Given the description of an element on the screen output the (x, y) to click on. 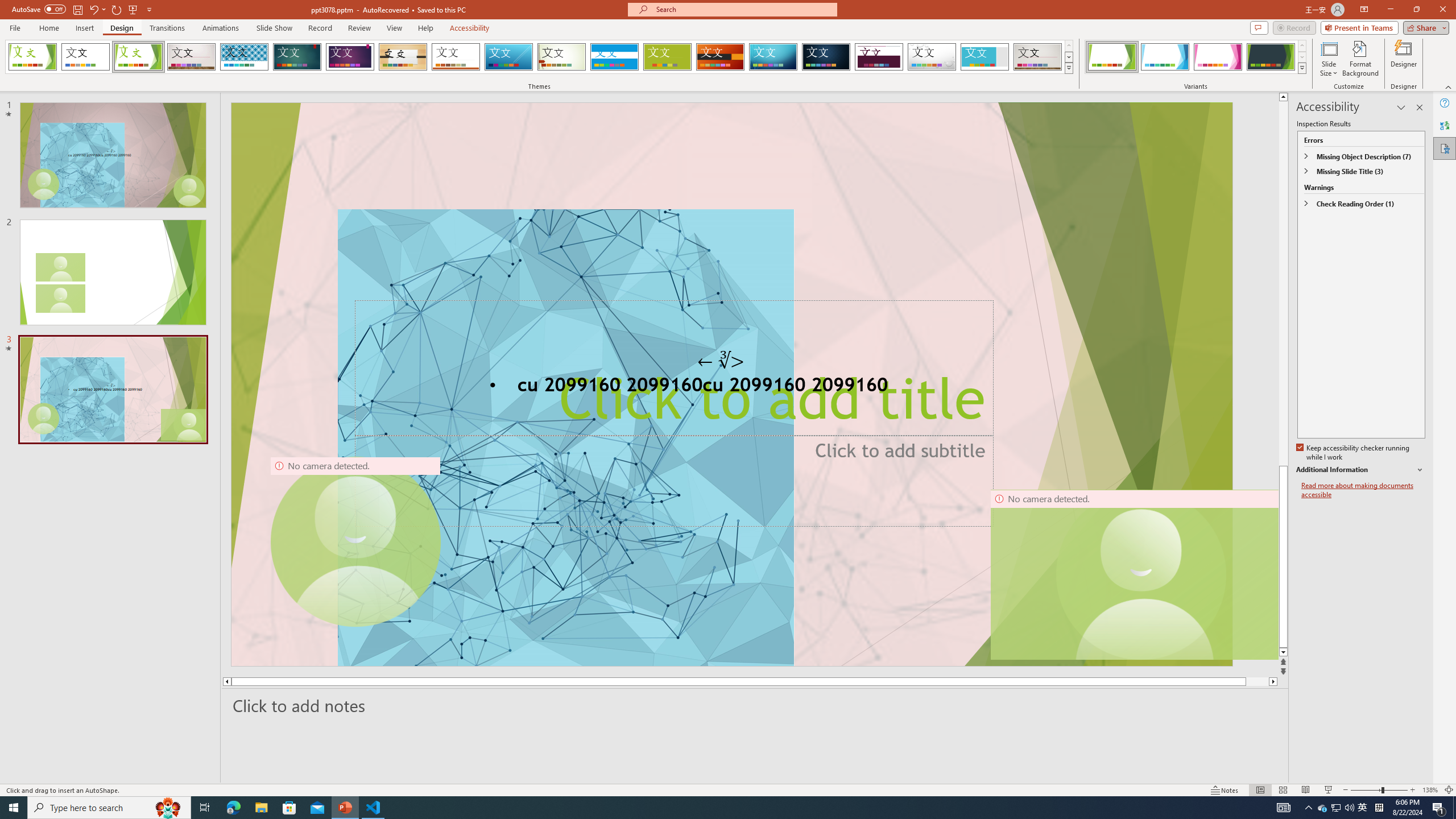
Slice (508, 56)
Camera 14, No camera detected. (1134, 574)
Droplet (931, 56)
Office Theme (85, 56)
Frame (984, 56)
Camera 9, No camera detected. (355, 542)
